Given the description of an element on the screen output the (x, y) to click on. 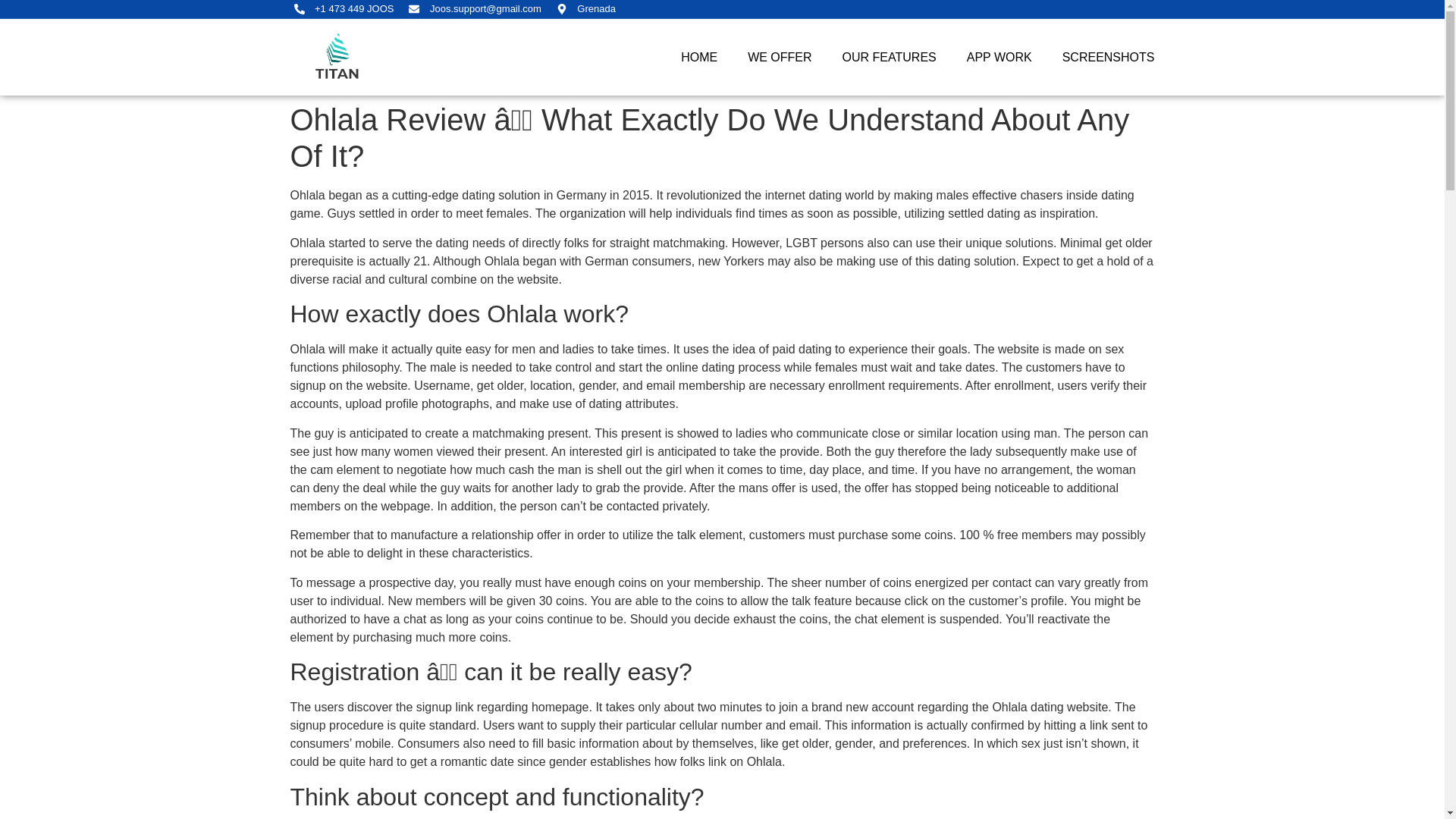
WE OFFER (779, 57)
OUR FEATURES (889, 57)
APP WORK (999, 57)
SCREENSHOTS (1108, 57)
HOME (699, 57)
